Given the description of an element on the screen output the (x, y) to click on. 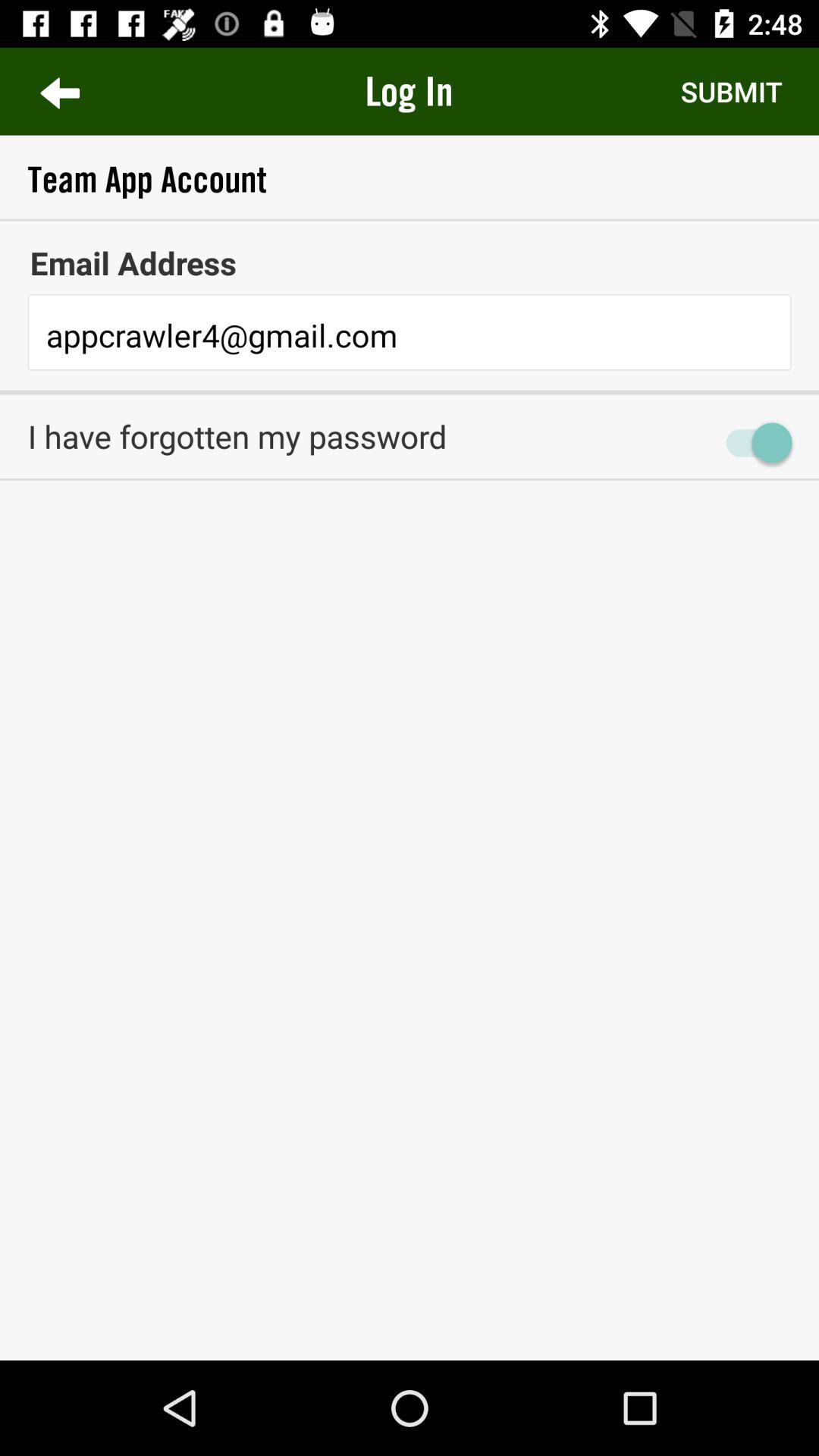
turn off item below email address icon (409, 336)
